Given the description of an element on the screen output the (x, y) to click on. 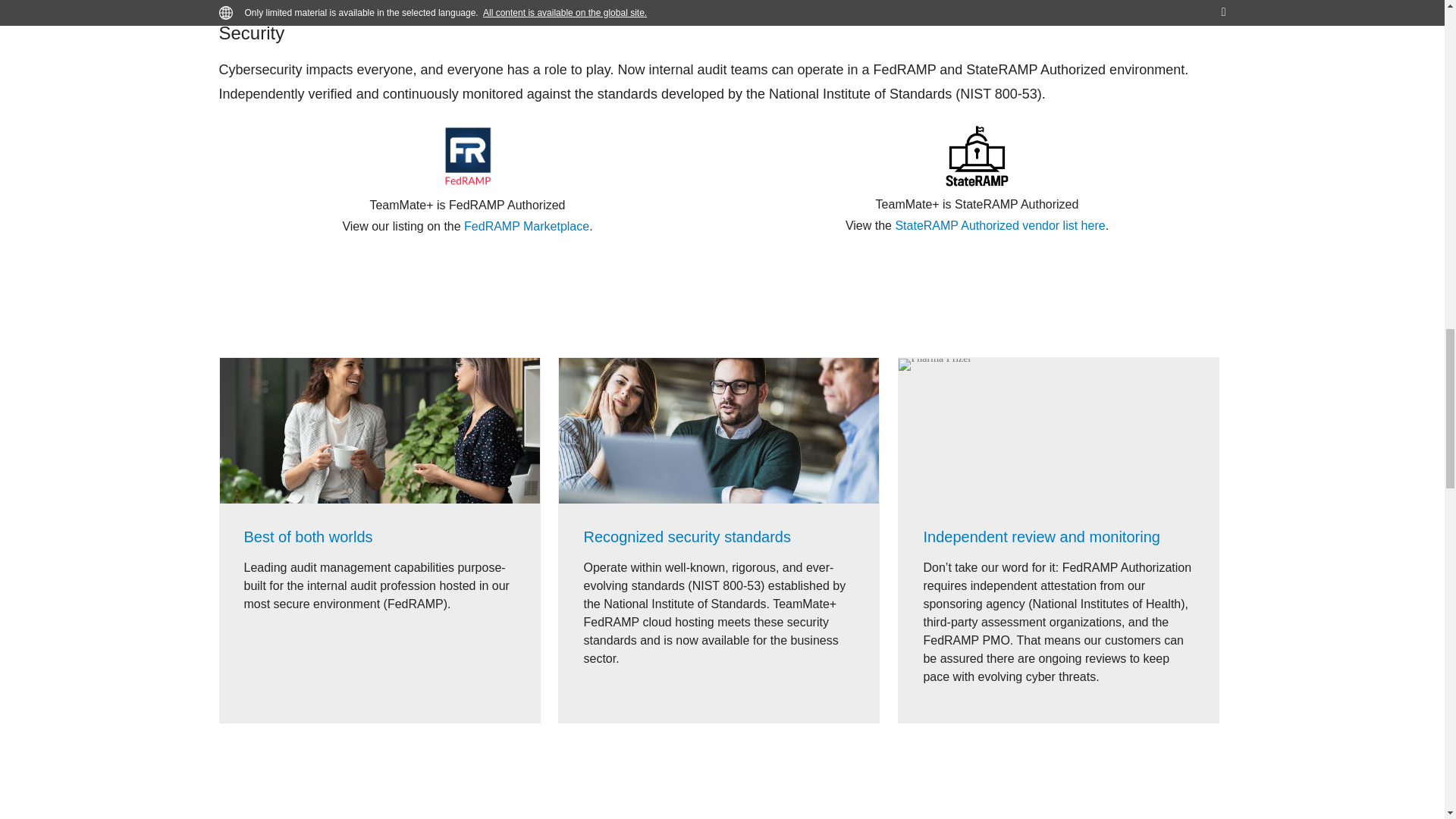
StateRAMP Authorized vendor list (1000, 225)
FedRAMP Authorized vendor list (526, 226)
